Given the description of an element on the screen output the (x, y) to click on. 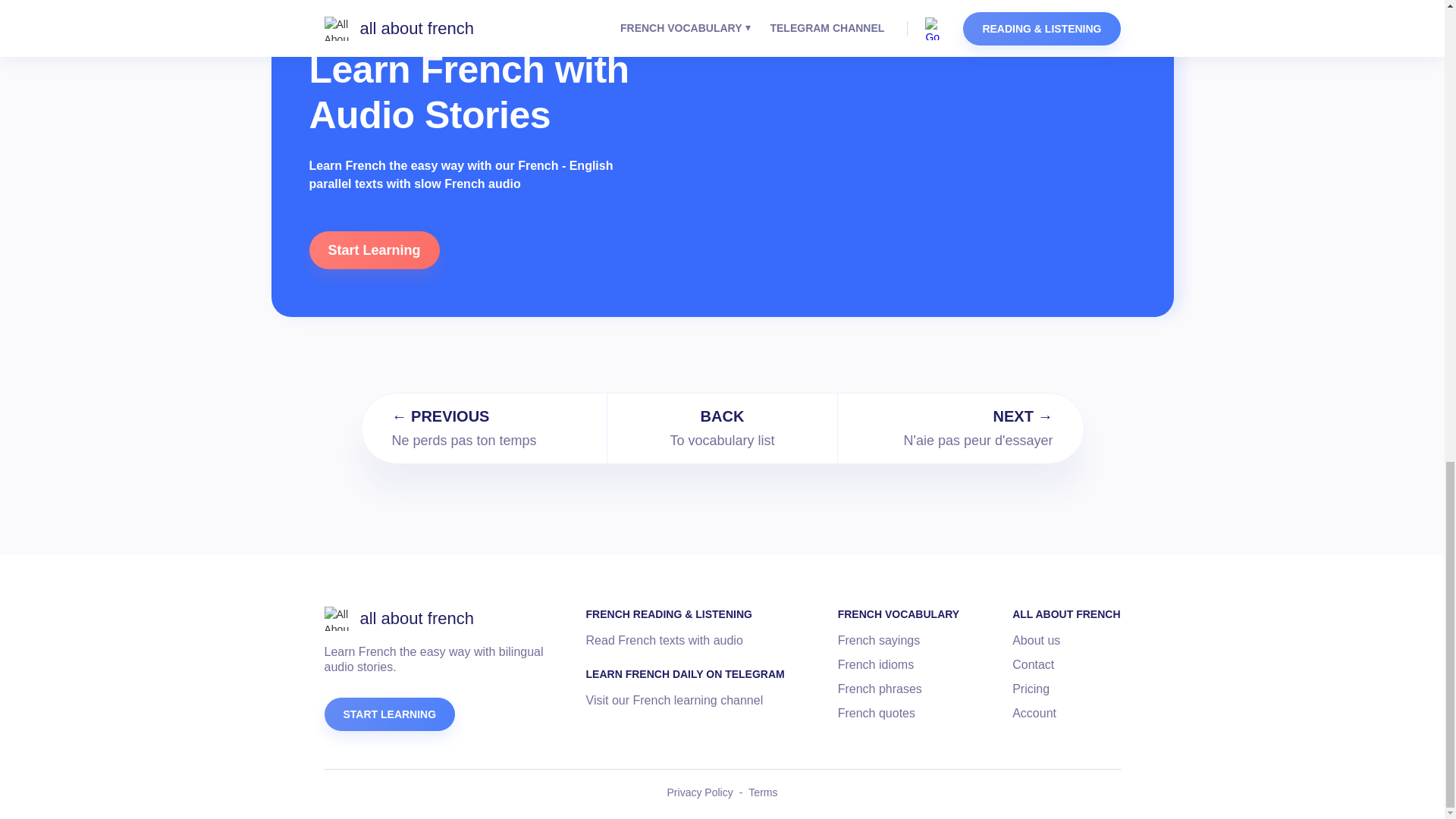
Visit our French learning channel (674, 700)
Contact (1032, 664)
Read French texts with audio (664, 640)
FRENCH VOCABULARY (898, 613)
Pricing (1030, 688)
all about french (399, 618)
French quotes (876, 713)
French phrases (879, 688)
START LEARNING (389, 714)
ALL ABOUT FRENCH (1065, 613)
French sayings (879, 640)
LEARN FRENCH DAILY ON TELEGRAM (685, 673)
Start Learning (373, 249)
French idioms (876, 664)
About us (1035, 640)
